Given the description of an element on the screen output the (x, y) to click on. 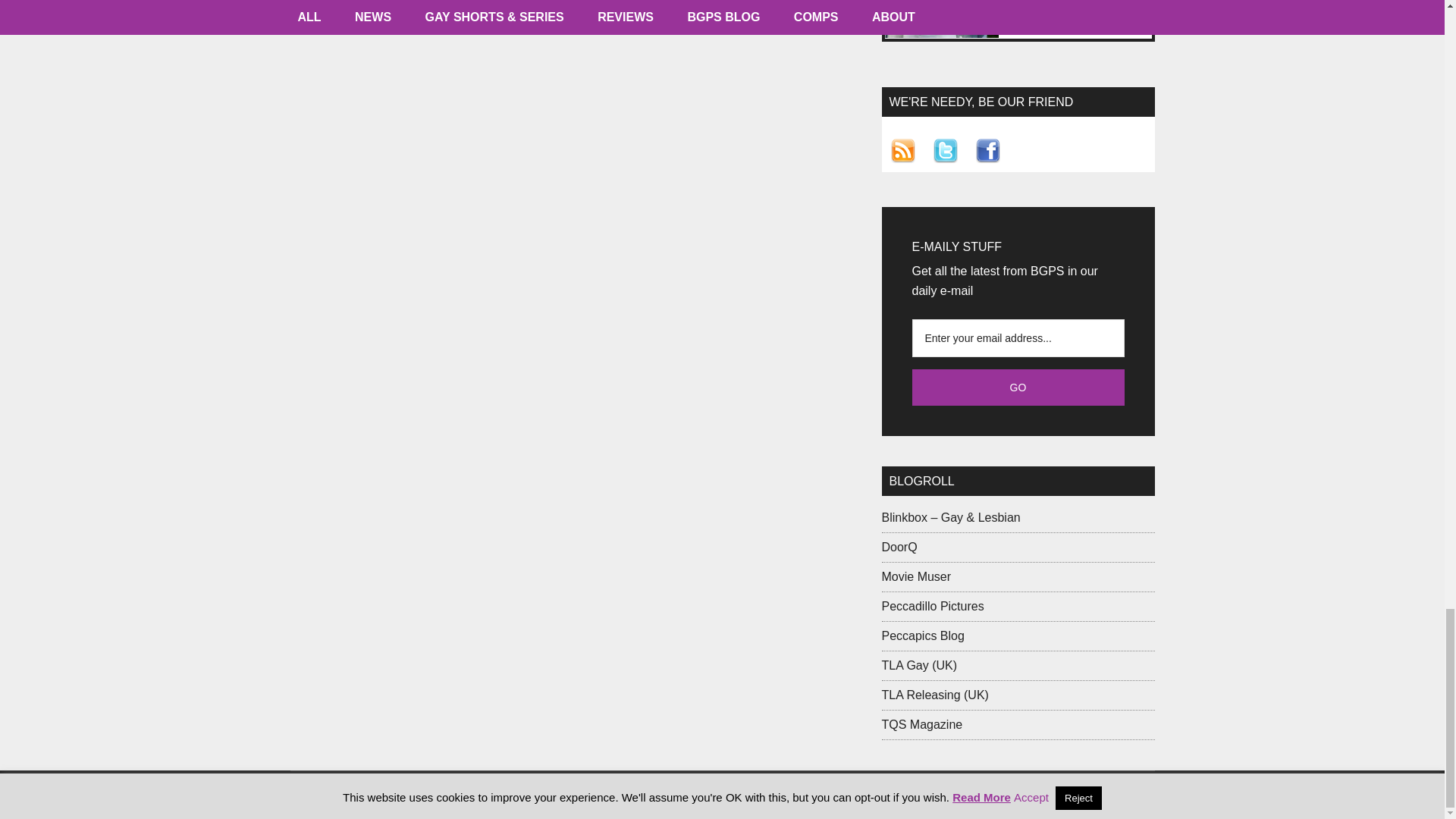
Go (1017, 387)
